Given the description of an element on the screen output the (x, y) to click on. 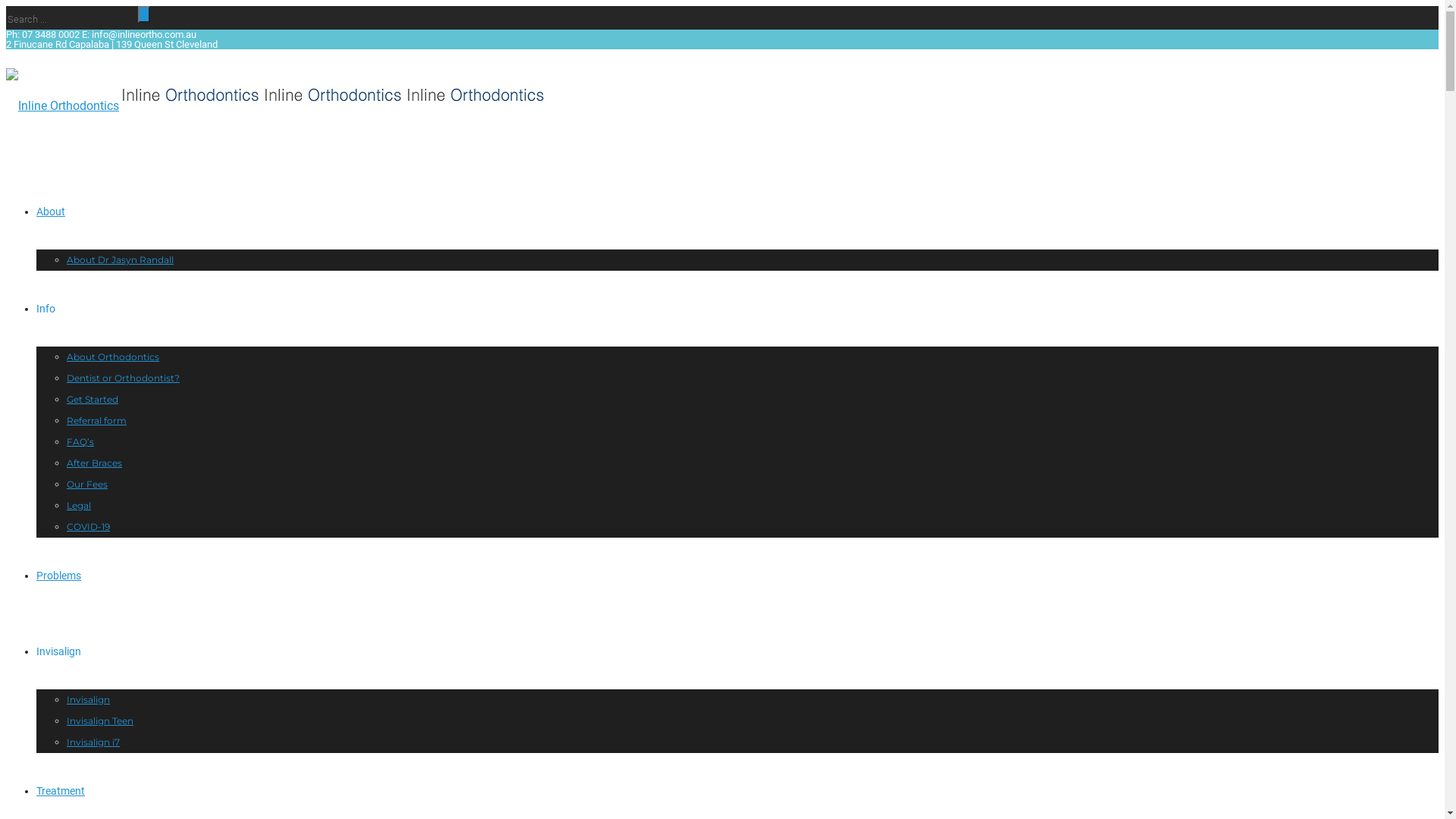
Invisalign Teen Element type: text (99, 720)
Problems Element type: text (58, 575)
Legal Element type: text (78, 505)
After Braces Element type: text (94, 462)
Referral form Element type: text (96, 420)
About Dr Jasyn Randall Element type: text (119, 259)
Get Started Element type: text (92, 398)
Our Fees Element type: text (86, 483)
About Orthodontics Element type: text (112, 356)
About Element type: text (50, 211)
Invisalign Element type: text (87, 699)
Info Element type: text (45, 308)
COVID-19 Element type: text (87, 526)
Treatment Element type: text (60, 790)
Invisalign Element type: text (58, 651)
Invisalign i7 Element type: text (92, 741)
Dentist or Orthodontist? Element type: text (122, 377)
